Given the description of an element on the screen output the (x, y) to click on. 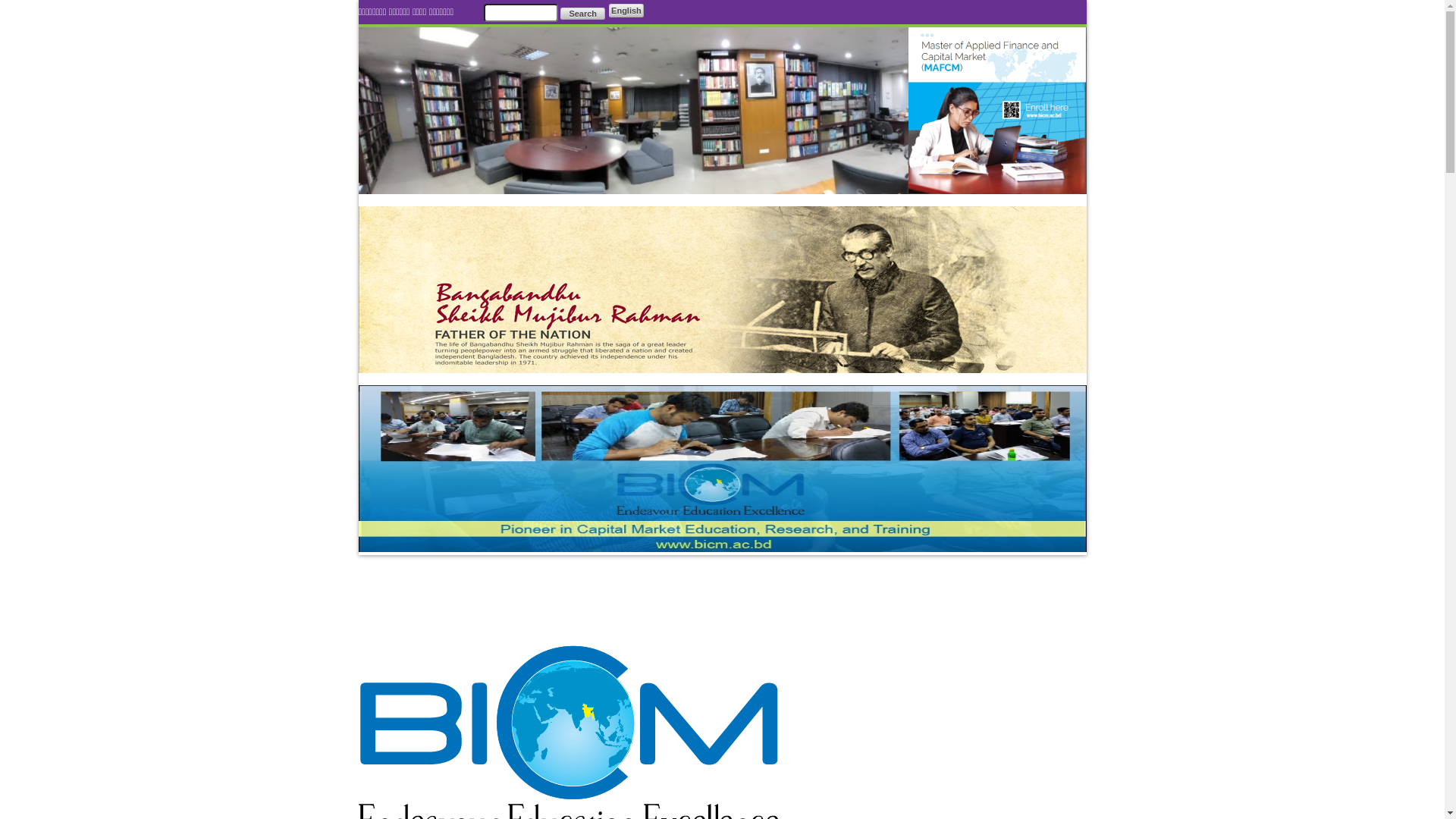
English Element type: text (625, 10)
Search Element type: text (582, 13)
